Given the description of an element on the screen output the (x, y) to click on. 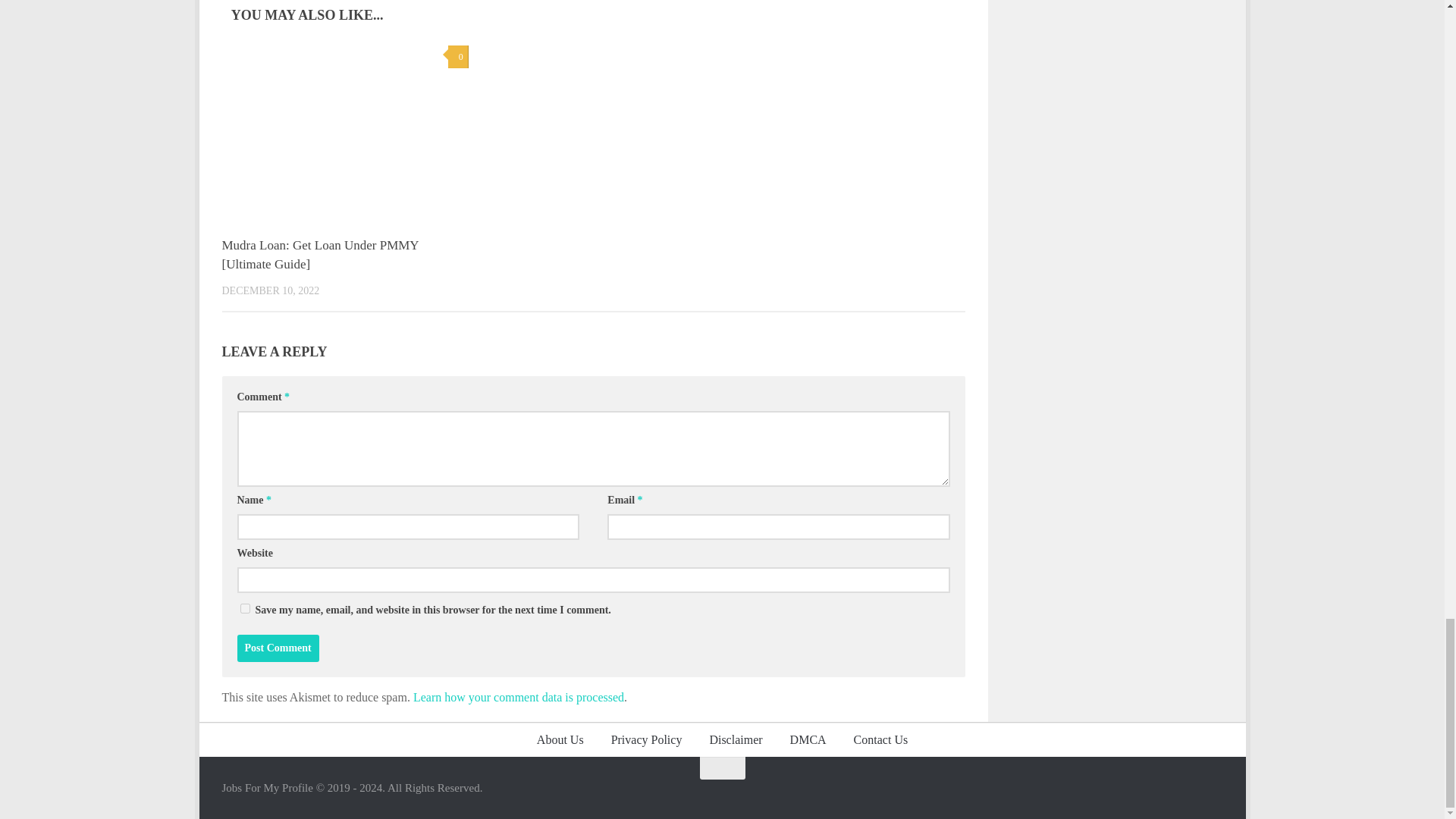
Post Comment (276, 647)
yes (244, 608)
Post Comment (276, 647)
Learn how your comment data is processed (518, 697)
